Given the description of an element on the screen output the (x, y) to click on. 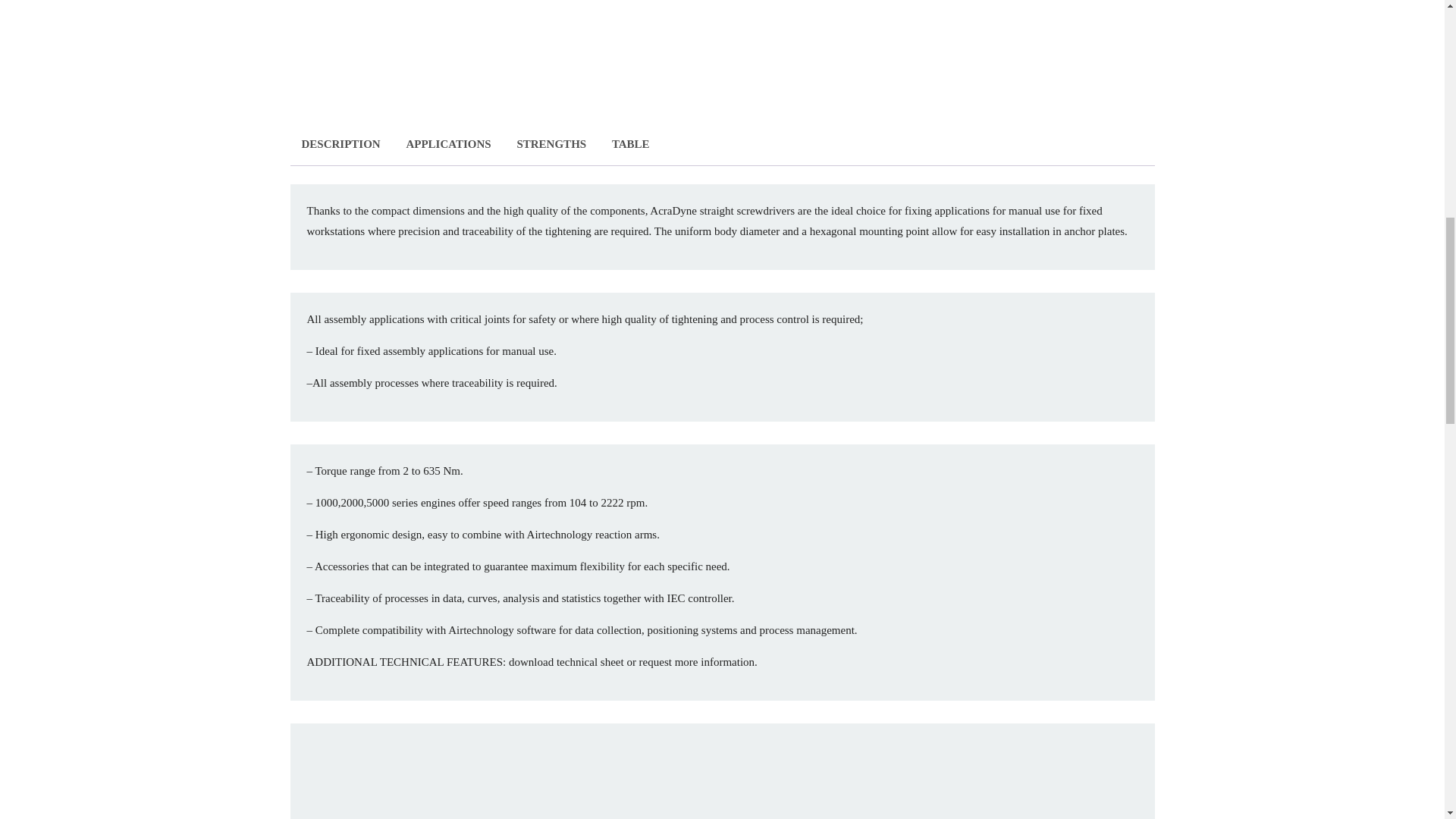
DESCRIPTION (340, 143)
TABLE (630, 143)
STRENGTHS (551, 143)
Inline Nutrunners 1 Avvitatori per assemblaggio industriale (722, 781)
APPLICATIONS (448, 143)
